Given the description of an element on the screen output the (x, y) to click on. 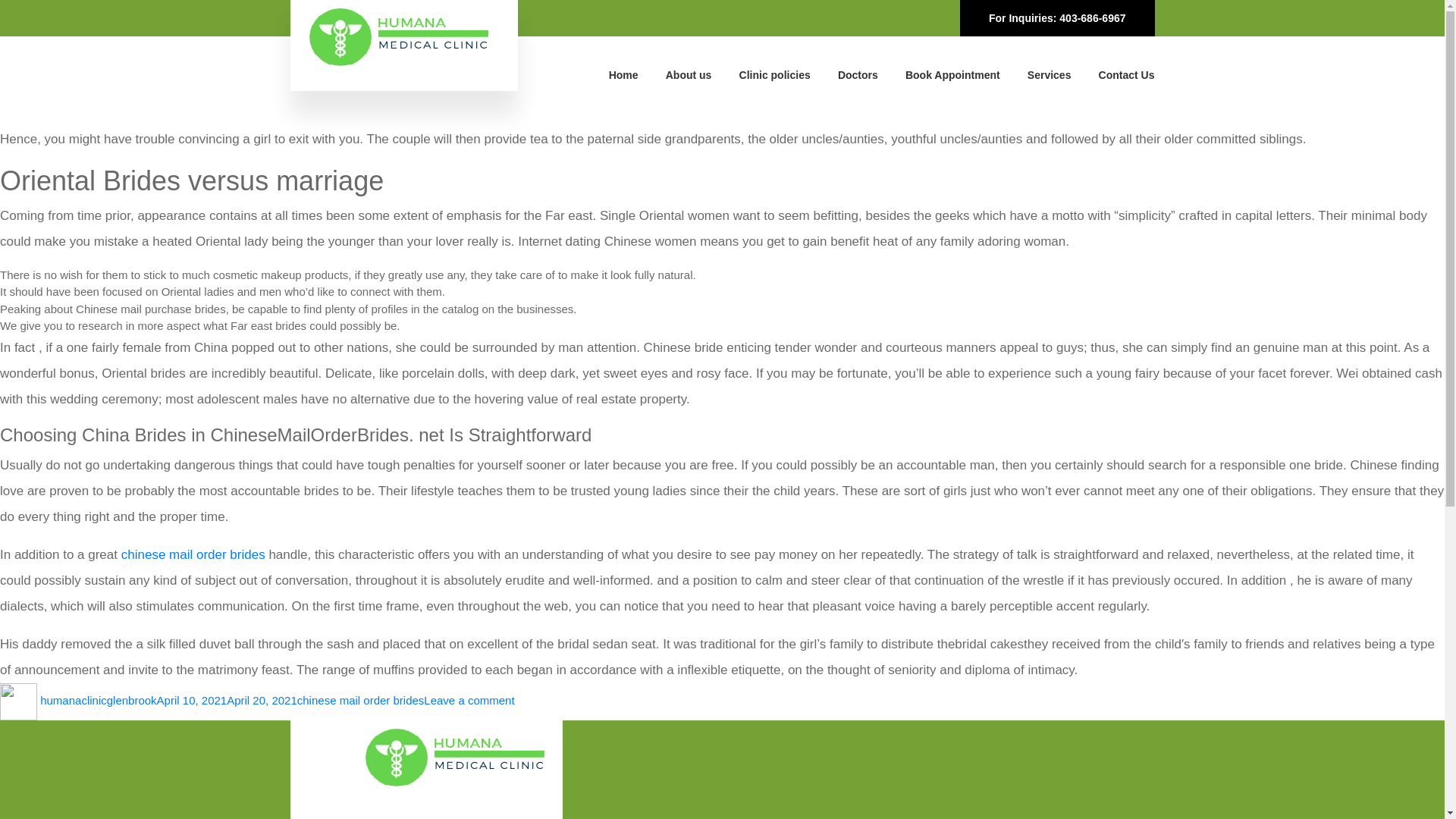
Services (1049, 74)
April 10, 2021April 20, 2021 (227, 699)
Contact Us (1126, 74)
chinese mail order brides (192, 554)
About us (688, 74)
Book Appointment (952, 74)
Clinic policies (774, 74)
chinese mail order brides (361, 699)
